Given the description of an element on the screen output the (x, y) to click on. 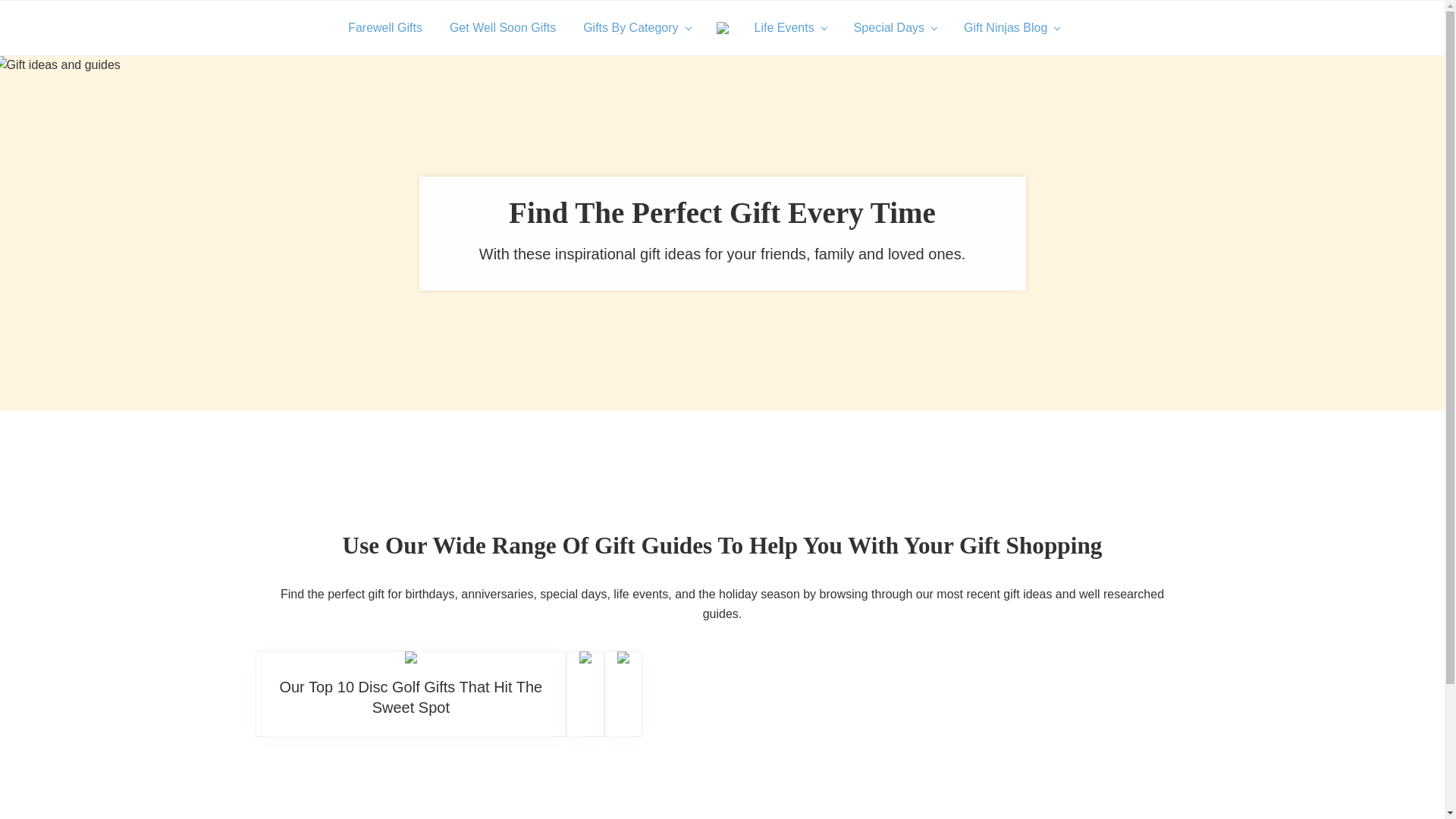
Get Well Soon Gifts (502, 28)
Gift Ninjas Blog (1011, 28)
Life Events (789, 28)
Gifts By Category (635, 28)
Our Top 10 Disc Golf Gifts That Hit The Sweet Spot (410, 696)
Our Top 10 Disc Golf Gifts That Hit The Sweet Spot (410, 657)
Our 14 Best Gift Ideas For Someone On Crutches (585, 657)
13 Gift Ideas For People Who Really Love Sudoku (623, 657)
Farewell Gifts (384, 28)
Special Days (895, 28)
